Given the description of an element on the screen output the (x, y) to click on. 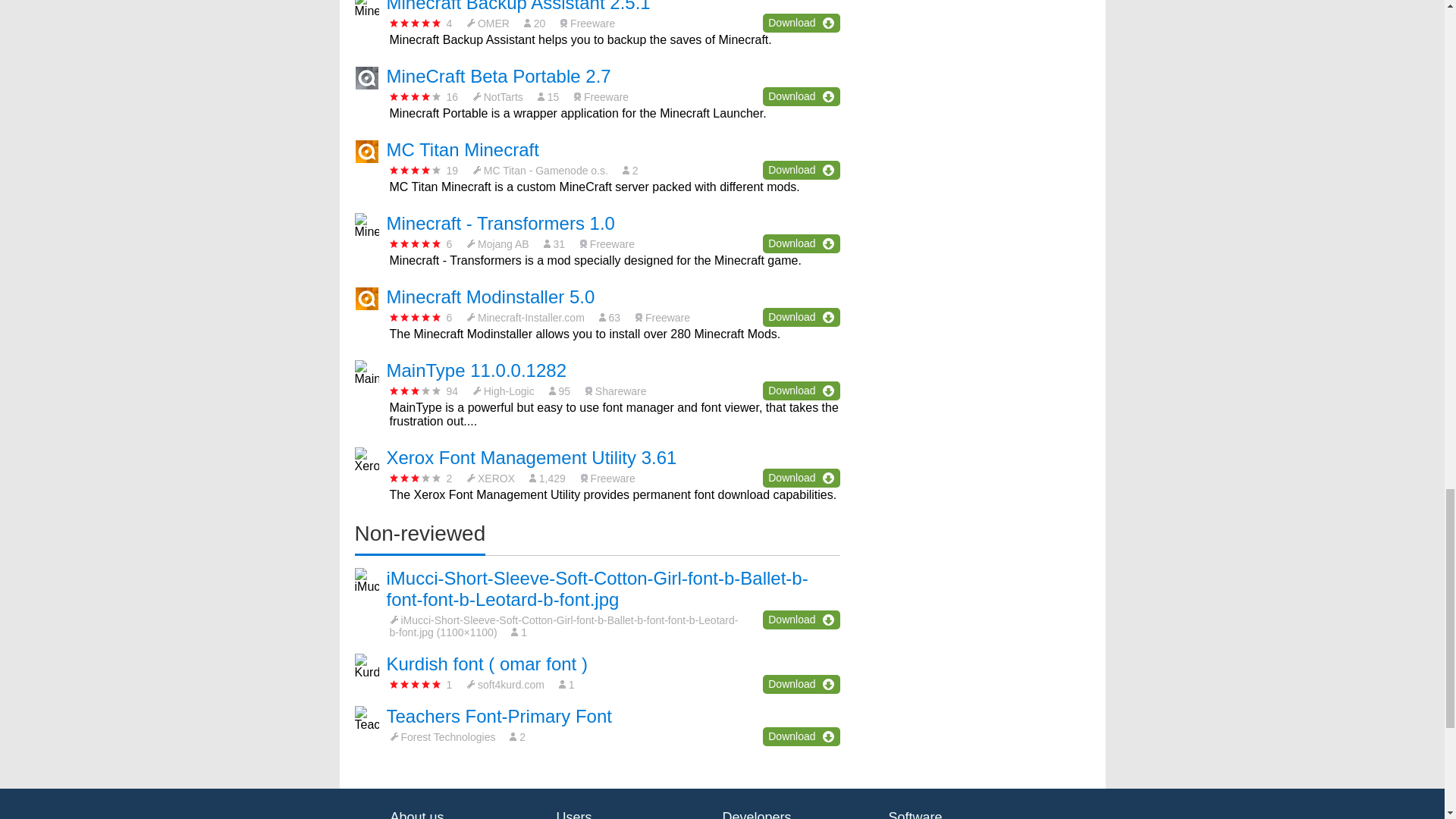
Download (801, 169)
4.8 (415, 22)
MC Titan Minecraft (462, 149)
Minecraft - Transformers 1.0 (500, 222)
Minecraft Modinstaller 5.0 (491, 296)
MineCraft Beta Portable 2.7 (499, 76)
Minecraft Backup Assistant 2.5.1 (518, 6)
4 (415, 96)
MC Titan Minecraft  (462, 149)
Download (801, 96)
